Given the description of an element on the screen output the (x, y) to click on. 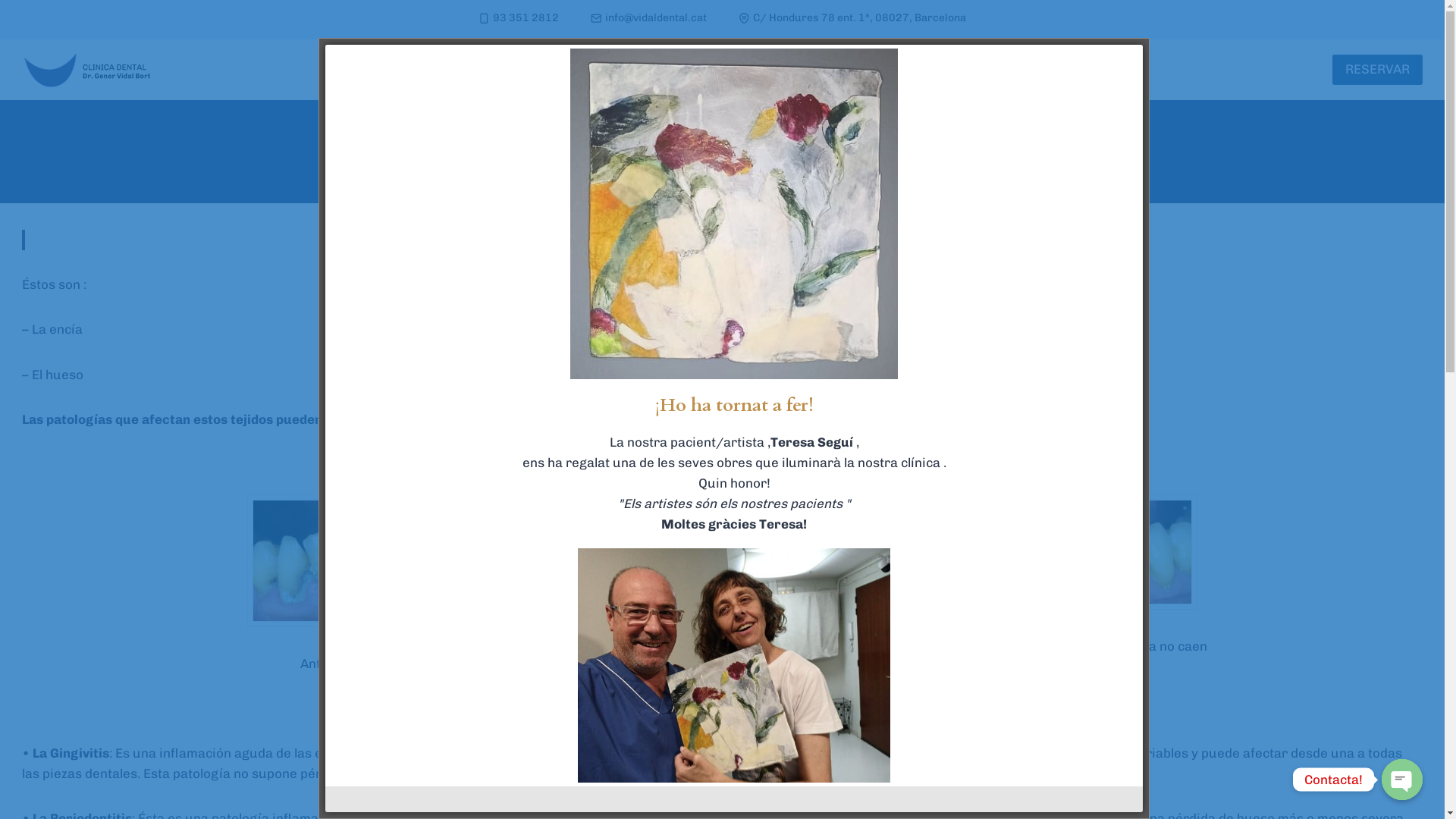
93 351 2812 Element type: text (518, 18)
info@vidaldental.cat Element type: text (648, 18)
Servicios Element type: text (685, 69)
RESERVAR Element type: text (1377, 69)
CAT Element type: text (902, 69)
ortegainici Element type: hover (366, 560)
Contacto Element type: text (812, 69)
ortegafinal Element type: hover (1078, 551)
Inicio Element type: text (568, 69)
